Given the description of an element on the screen output the (x, y) to click on. 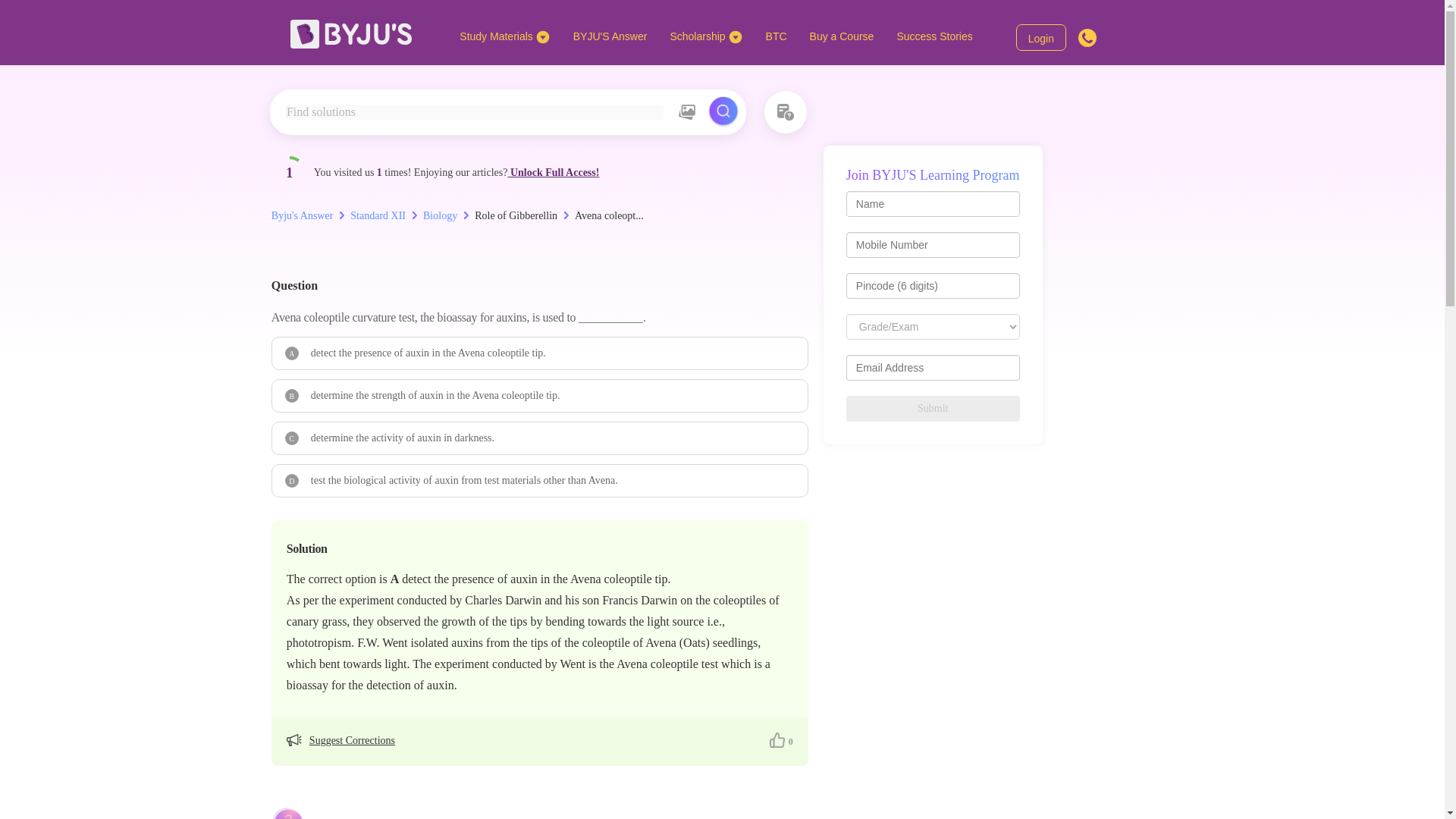
Study Materials (504, 35)
